Given the description of an element on the screen output the (x, y) to click on. 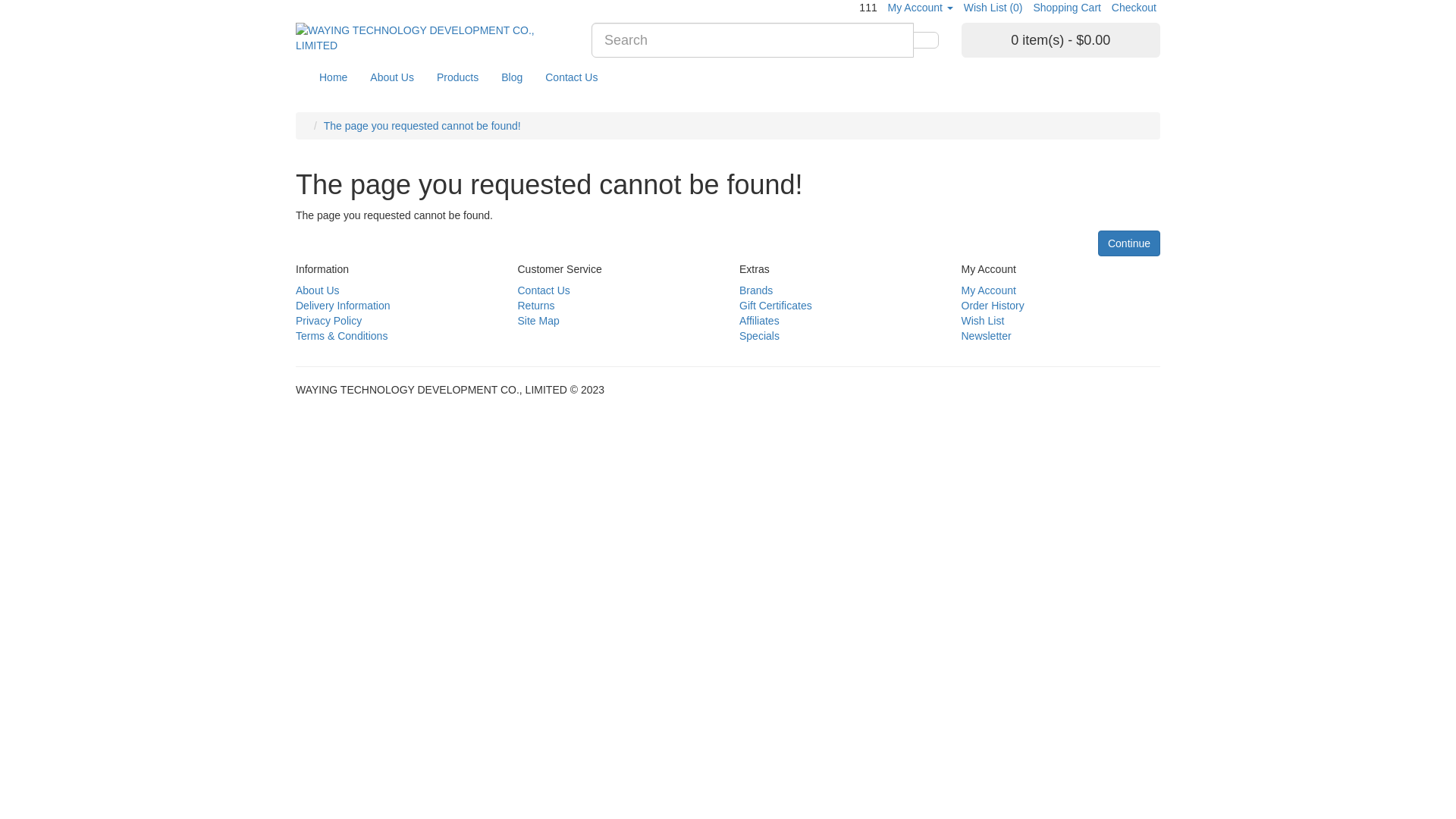
0 item(s) - $0.00 Element type: text (1061, 39)
Continue Element type: text (1129, 243)
Blog Element type: text (511, 77)
Privacy Policy Element type: text (328, 320)
My Account Element type: text (920, 7)
Wish List Element type: text (982, 320)
Terms & Conditions Element type: text (341, 335)
Contact Us Element type: text (570, 77)
Order History Element type: text (992, 305)
My Account Element type: text (988, 290)
Returns Element type: text (535, 305)
About Us Element type: text (391, 77)
The page you requested cannot be found! Element type: text (421, 125)
Contact Us Element type: text (543, 290)
Affiliates Element type: text (759, 320)
Newsletter Element type: text (986, 335)
Site Map Element type: text (537, 320)
Delivery Information Element type: text (342, 305)
WAYING TECHNOLOGY DEVELOPMENT CO., LIMITED Element type: hover (431, 37)
Products Element type: text (457, 77)
Brands Element type: text (755, 290)
Specials Element type: text (759, 335)
Shopping Cart Element type: text (1066, 7)
Gift Certificates Element type: text (775, 305)
Checkout Element type: text (1133, 7)
Home Element type: text (332, 77)
About Us Element type: text (317, 290)
Wish List (0) Element type: text (992, 7)
